Given the description of an element on the screen output the (x, y) to click on. 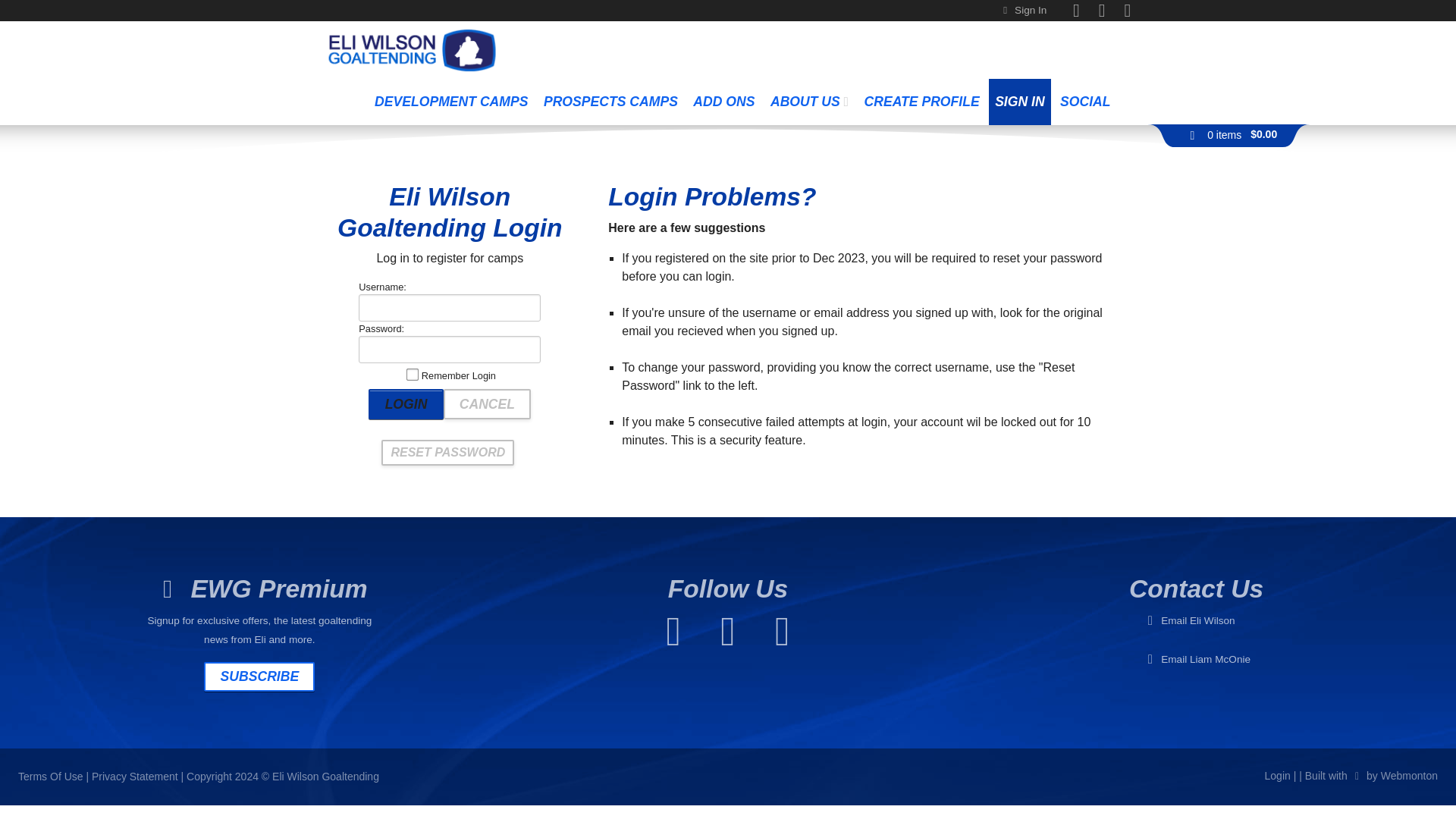
SUBSCRIBE (258, 676)
Sign In (1030, 9)
Email Liam McOnie (1205, 659)
SIGN IN (1019, 101)
PROSPECTS CAMPS (610, 101)
Terms Of Use (49, 776)
Login (405, 404)
Eli Wilson Goaltending Instagram (1127, 12)
Eli Wilson Goaltending Twitter (1101, 12)
ABOUT US (809, 101)
Eli Wilson Goaltending Instagram (782, 641)
Privacy Statement (134, 776)
Eli Wilson Goaltending Page (1075, 12)
Email Eli Wilson (1197, 620)
SOCIAL (1085, 101)
